Given the description of an element on the screen output the (x, y) to click on. 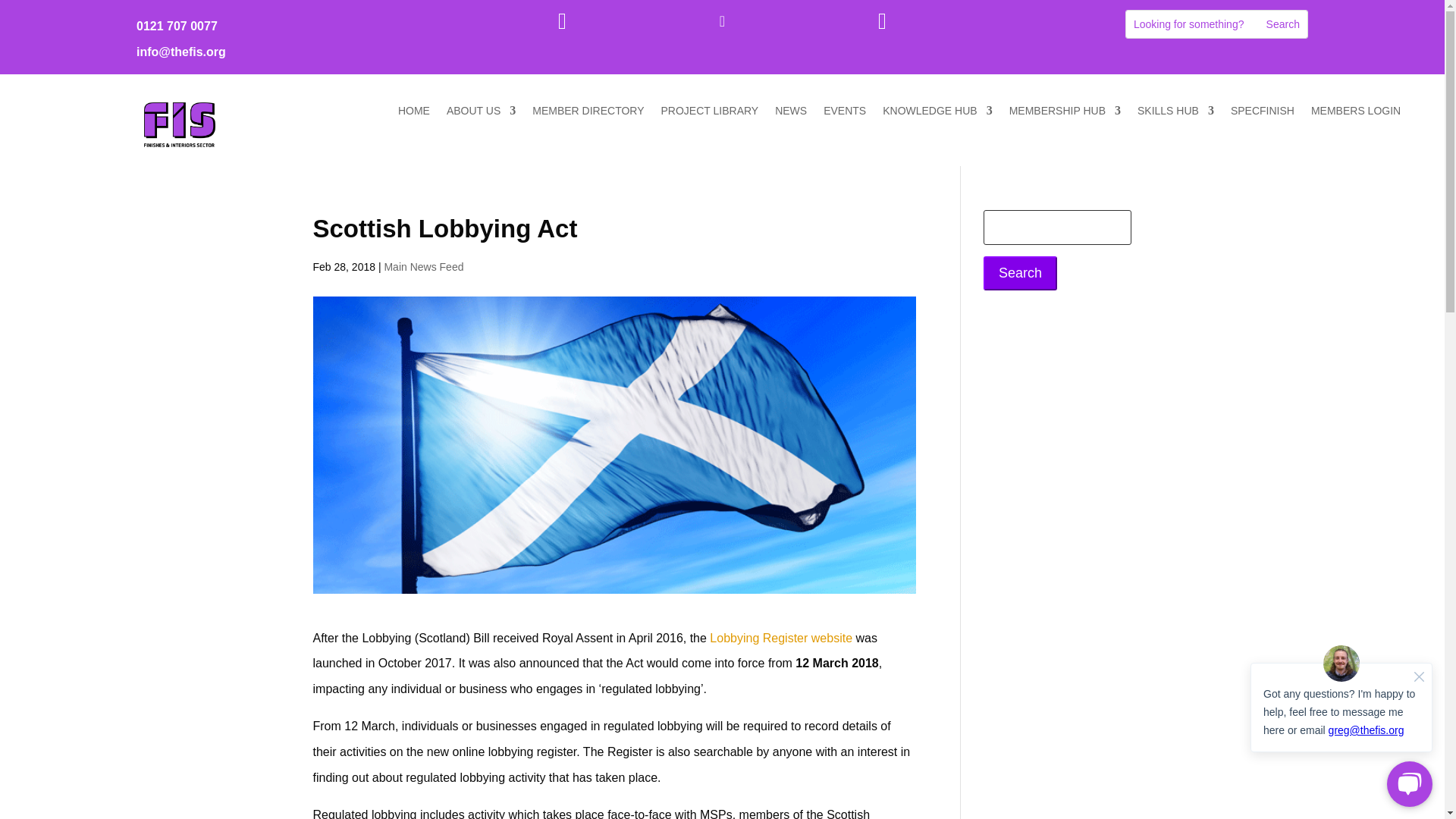
Search (1020, 273)
Search (1283, 23)
MEMBER DIRECTORY (587, 113)
Search (1283, 23)
PROJECT LIBRARY (709, 113)
ABOUT US (480, 113)
NEWS (790, 113)
EVENTS (845, 113)
HOME (413, 113)
KNOWLEDGE HUB (936, 113)
MEMBERSHIP HUB (1065, 113)
Search (1283, 23)
